Given the description of an element on the screen output the (x, y) to click on. 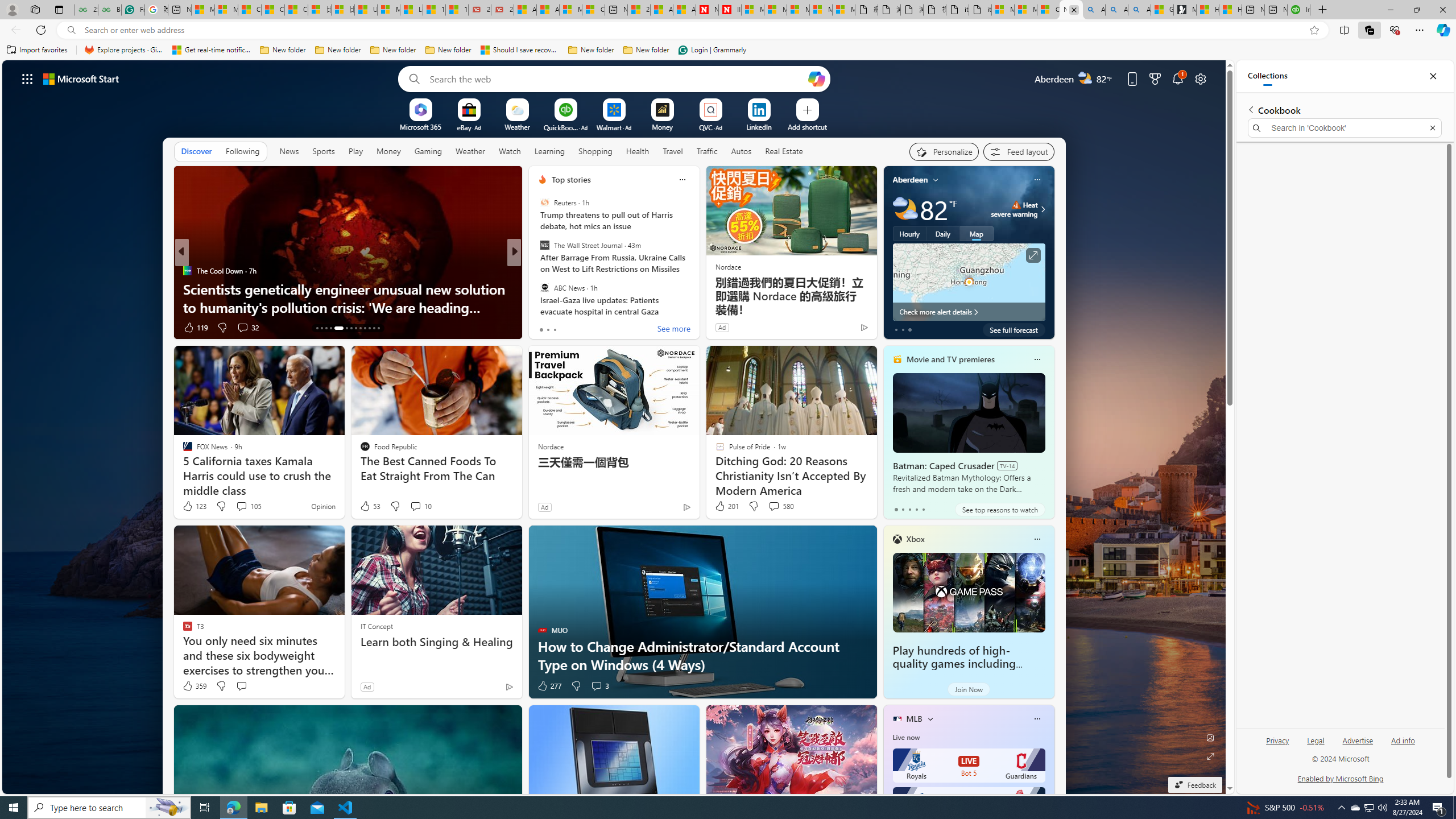
AutomationID: tab-24 (374, 328)
Morning Carpool (537, 270)
Class: control (27, 78)
84 Like (543, 327)
The Wall Street Journal (544, 245)
The Cool Down (187, 270)
How to Use a TV as a Computer Monitor (1230, 9)
Expand background (1210, 756)
